Given the description of an element on the screen output the (x, y) to click on. 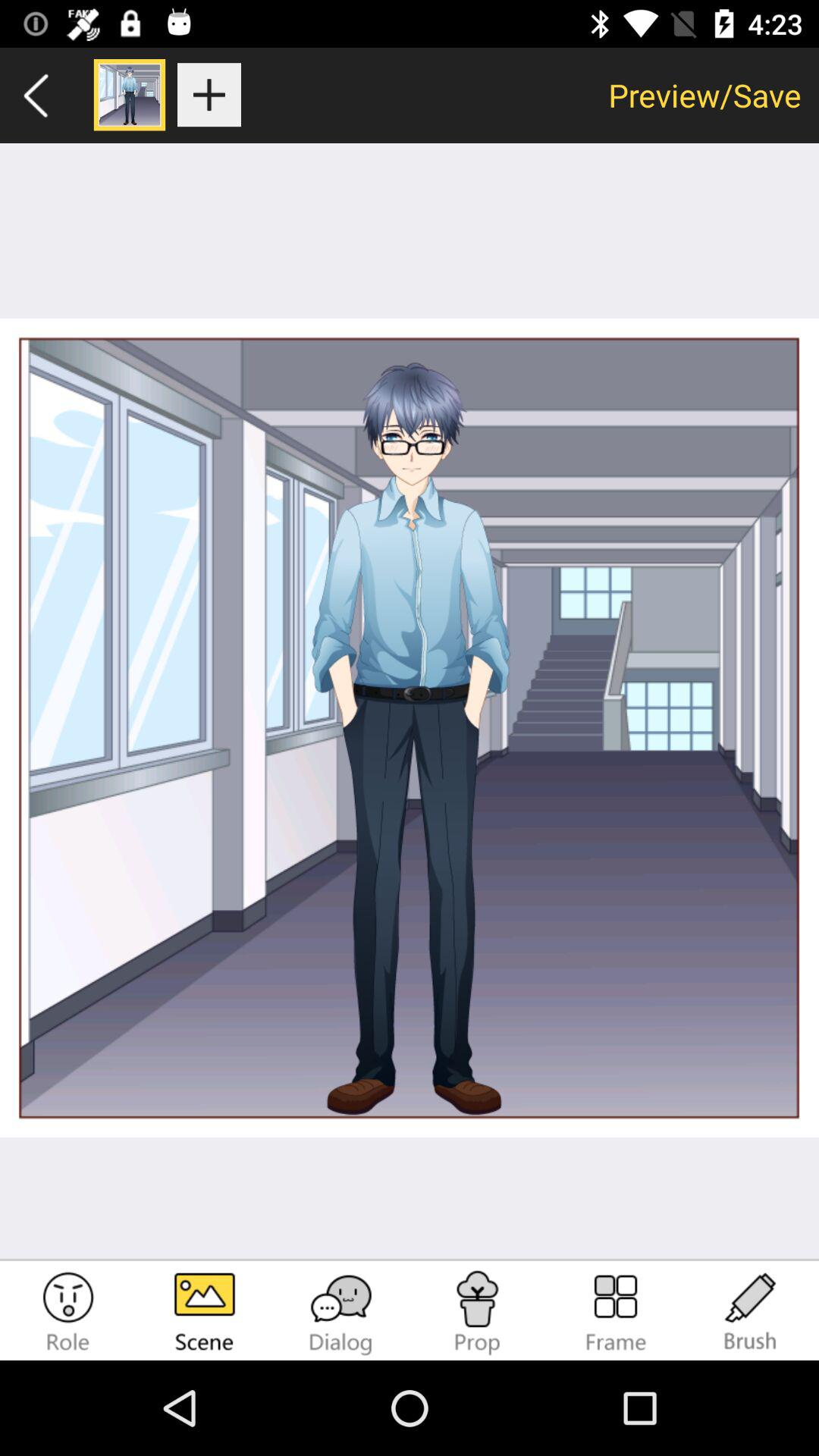
turn on preview/save item (704, 94)
